Given the description of an element on the screen output the (x, y) to click on. 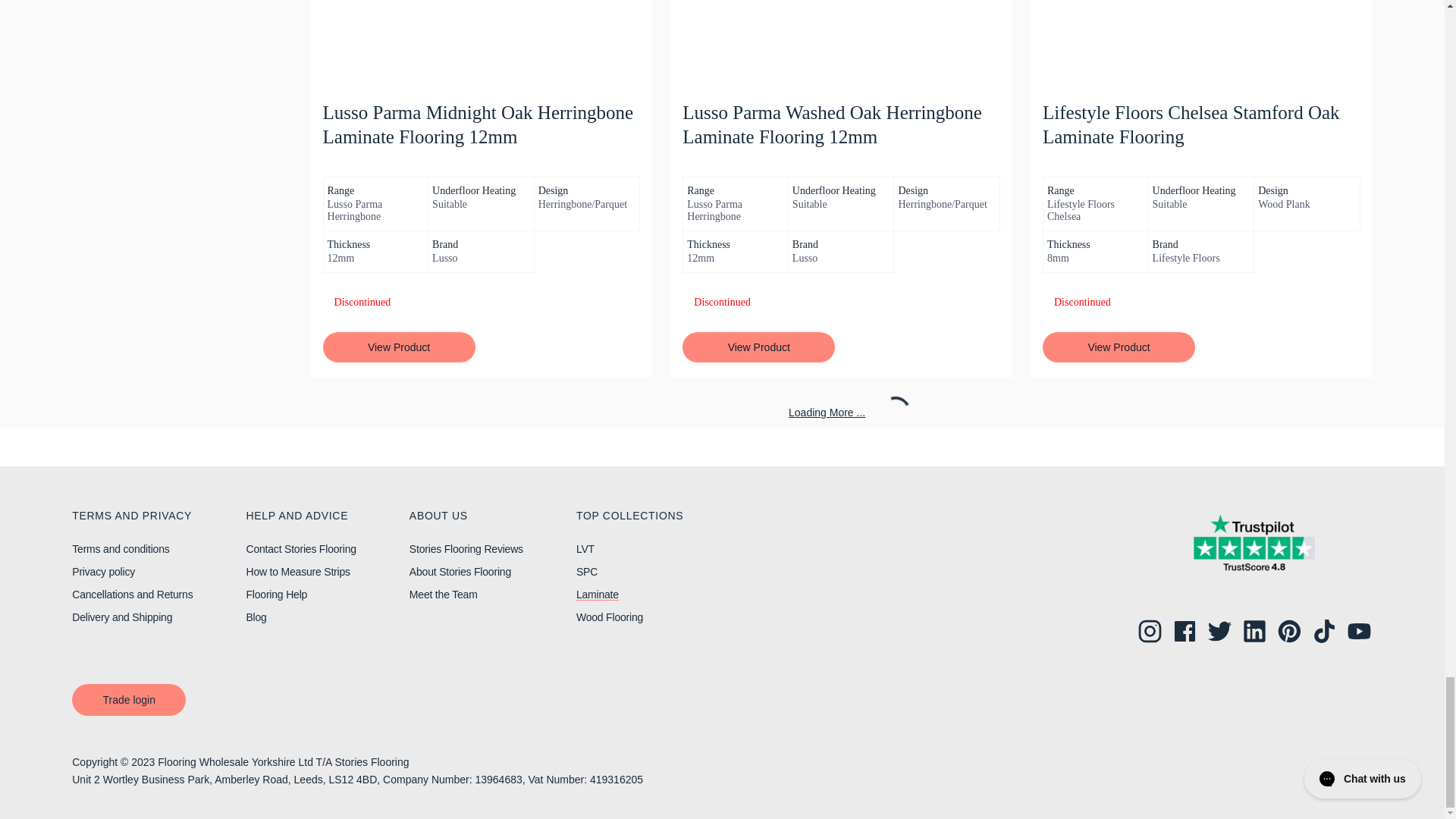
Loading More ... (842, 412)
